Given the description of an element on the screen output the (x, y) to click on. 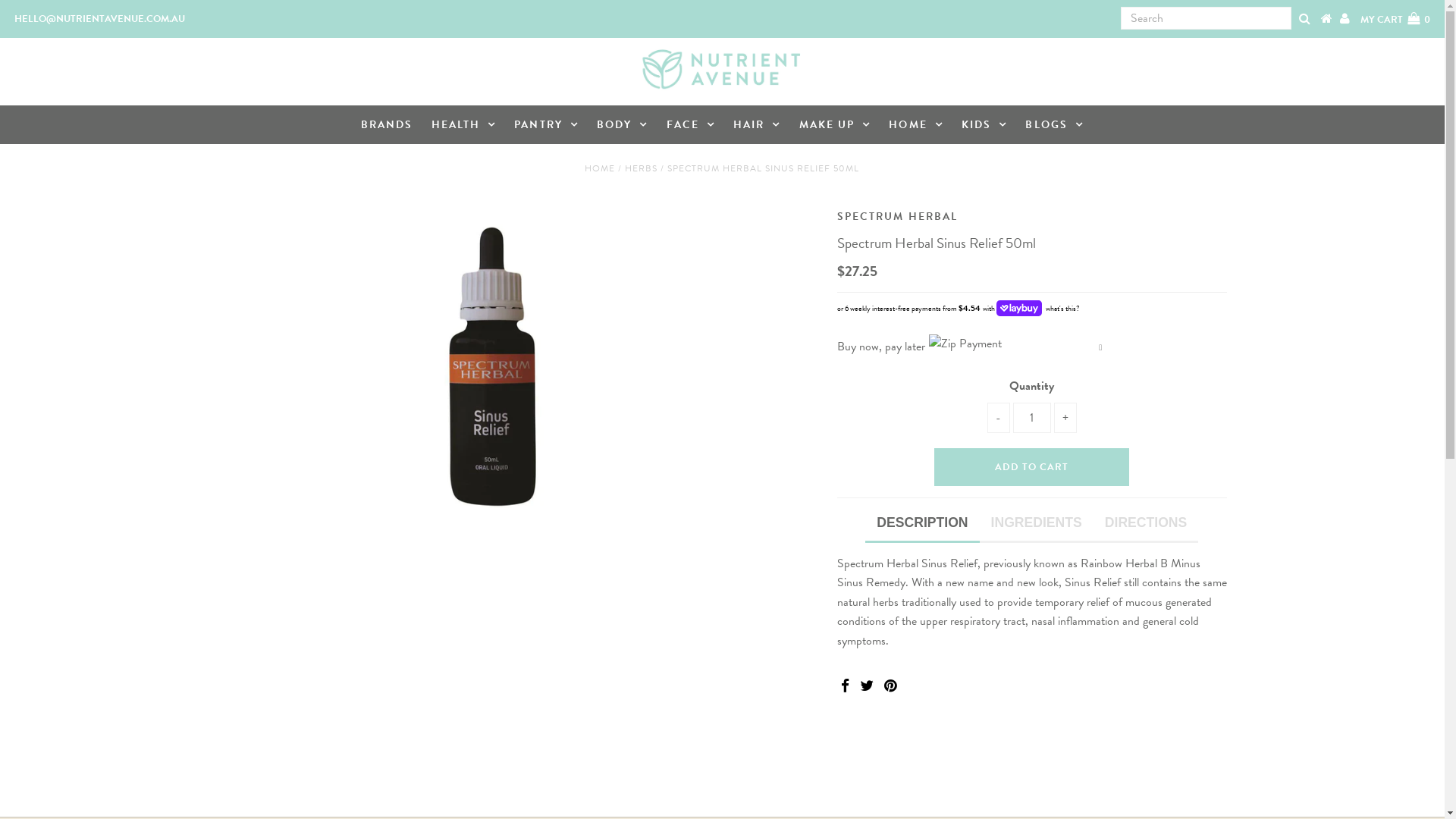
MY CART    0 Element type: text (1395, 19)
HOME Element type: text (599, 168)
HELLO@NUTRIENTAVENUE.COM.AU Element type: text (99, 18)
HERBS Element type: text (640, 168)
what's this? Element type: text (1060, 307)
HEALTH Element type: text (463, 124)
PANTRY Element type: text (546, 124)
Add to Cart Element type: text (1031, 467)
- Element type: text (998, 417)
Share on Facebook Element type: hover (844, 686)
Share on Pinterest Element type: hover (890, 686)
BLOGS Element type: text (1054, 124)
BODY Element type: text (622, 124)
HOME Element type: text (915, 124)
KIDS Element type: text (984, 124)
+ Element type: text (1065, 417)
Share on Twitter Element type: hover (866, 686)
MAKE UP Element type: text (834, 124)
FACE Element type: text (690, 124)
BRANDS Element type: text (386, 125)
HAIR Element type: text (756, 124)
